Given the description of an element on the screen output the (x, y) to click on. 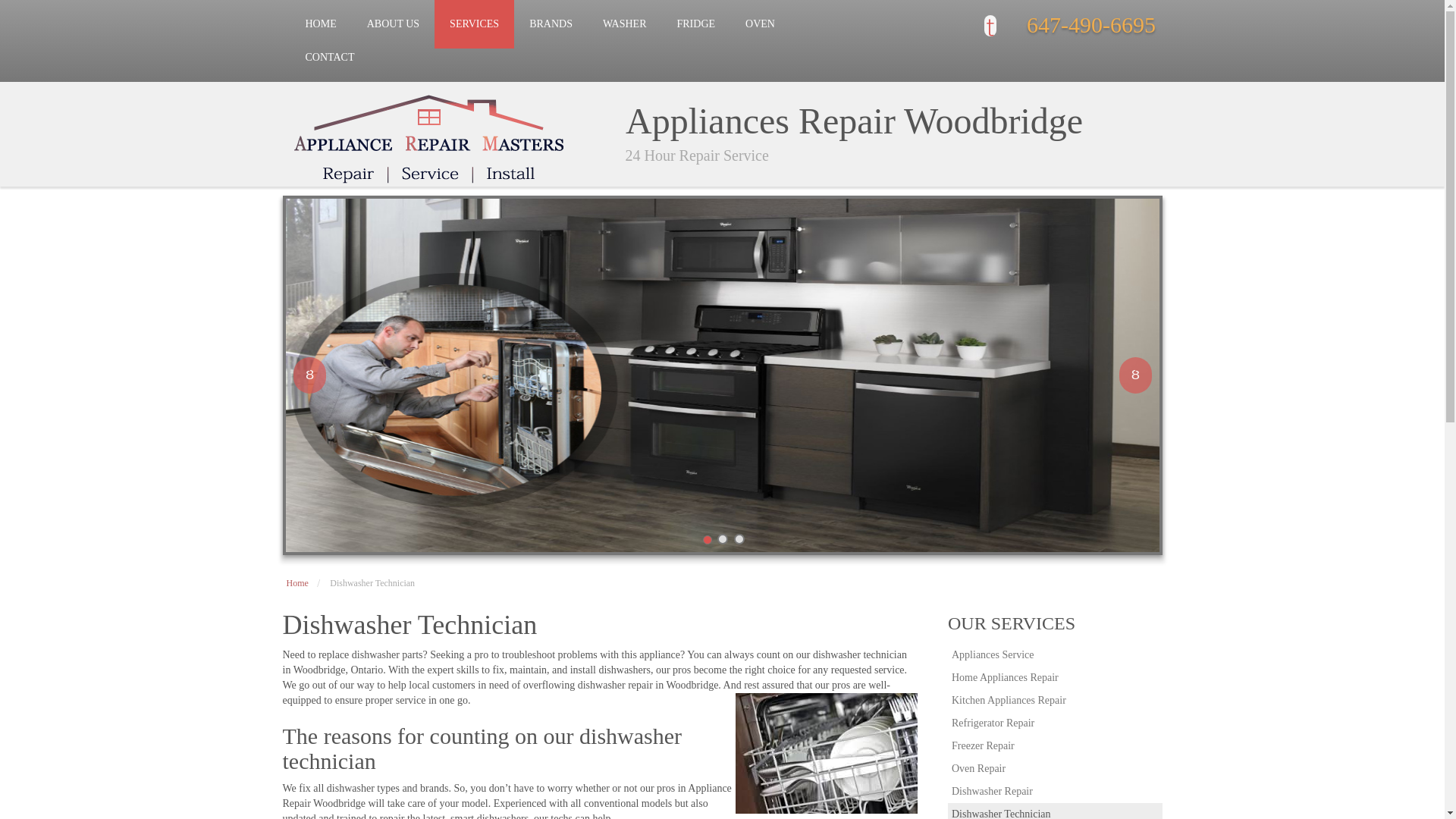
HOME (319, 23)
ABOUT US (392, 23)
OVEN (760, 23)
SERVICES (473, 24)
FRIDGE (695, 23)
BRANDS (550, 23)
WASHER (625, 23)
